Given the description of an element on the screen output the (x, y) to click on. 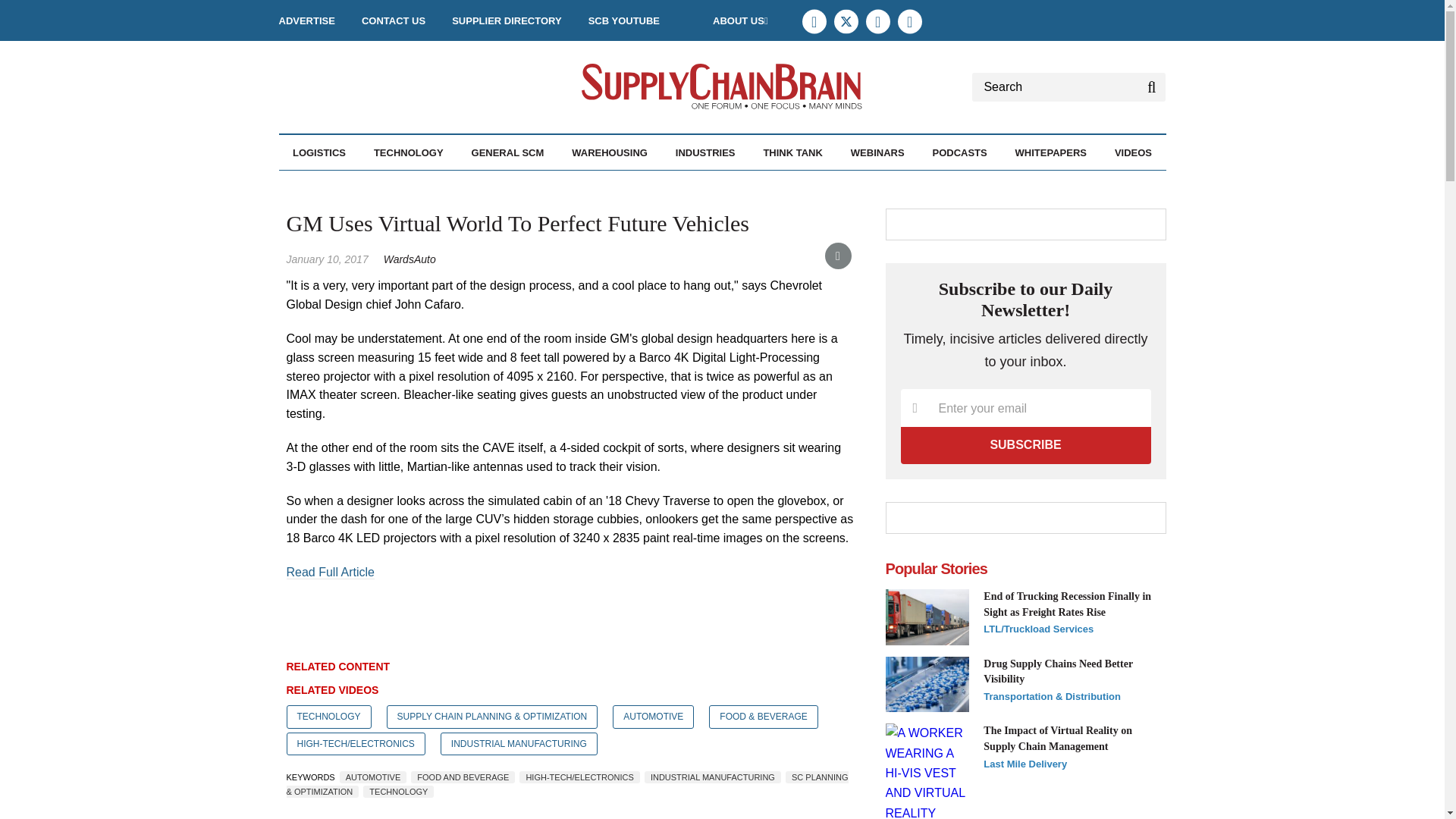
ABOUT US (740, 20)
Reverse Logistics (411, 184)
Air Cargo (368, 184)
Ocean Transportation (407, 184)
TECHNOLOGY (409, 152)
CONTACT US (393, 20)
Last Mile Delivery (401, 184)
Subscribe (1026, 444)
ADVERTISE (306, 20)
